Given the description of an element on the screen output the (x, y) to click on. 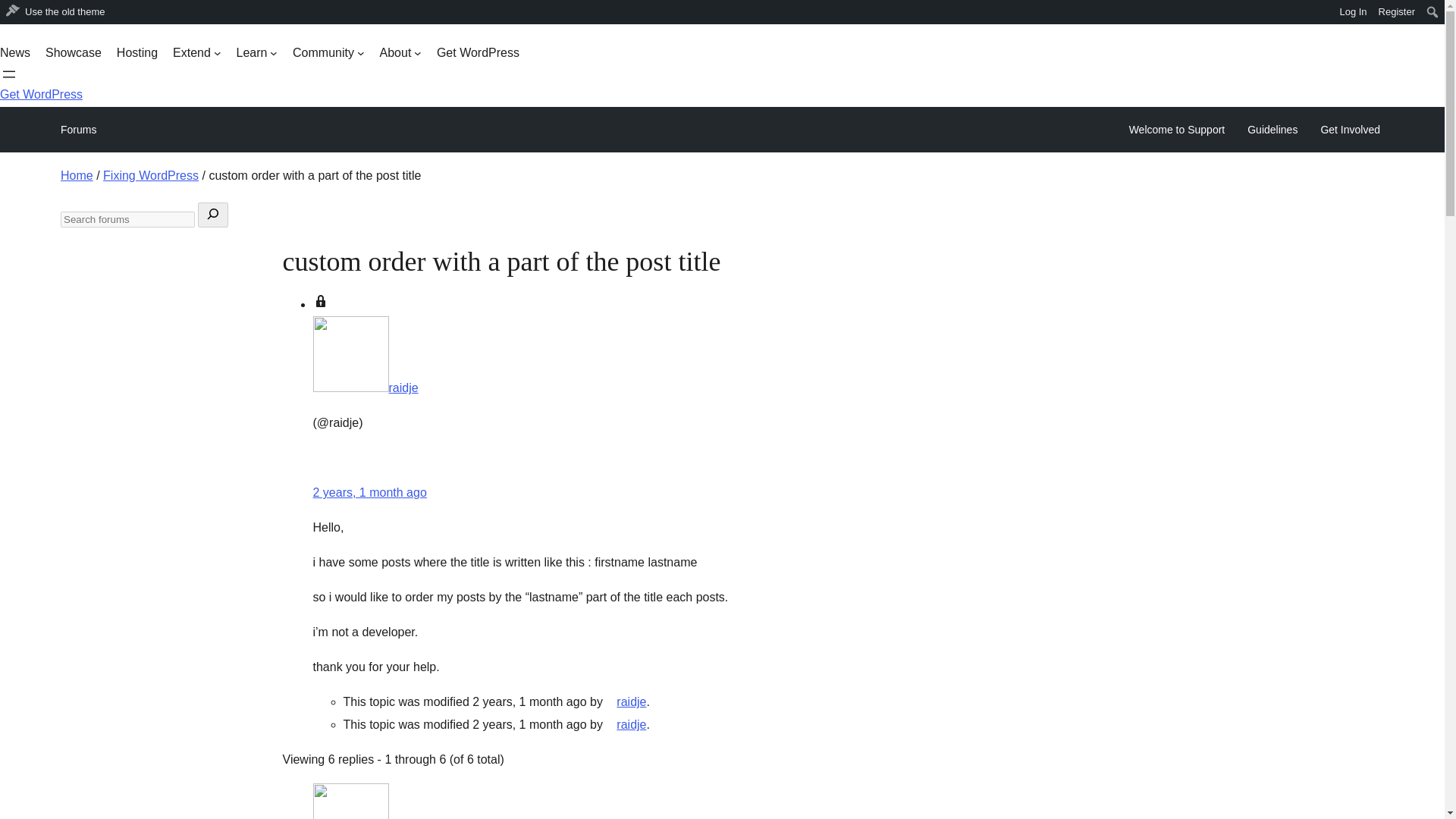
Register (1397, 12)
Use the old theme (56, 12)
June 30, 2022 at 1:35 pm (369, 492)
WordPress.org (10, 16)
Community (328, 52)
Showcase (73, 52)
Get WordPress (477, 52)
View raidje's profile (625, 701)
Search (16, 13)
News (15, 52)
